Given the description of an element on the screen output the (x, y) to click on. 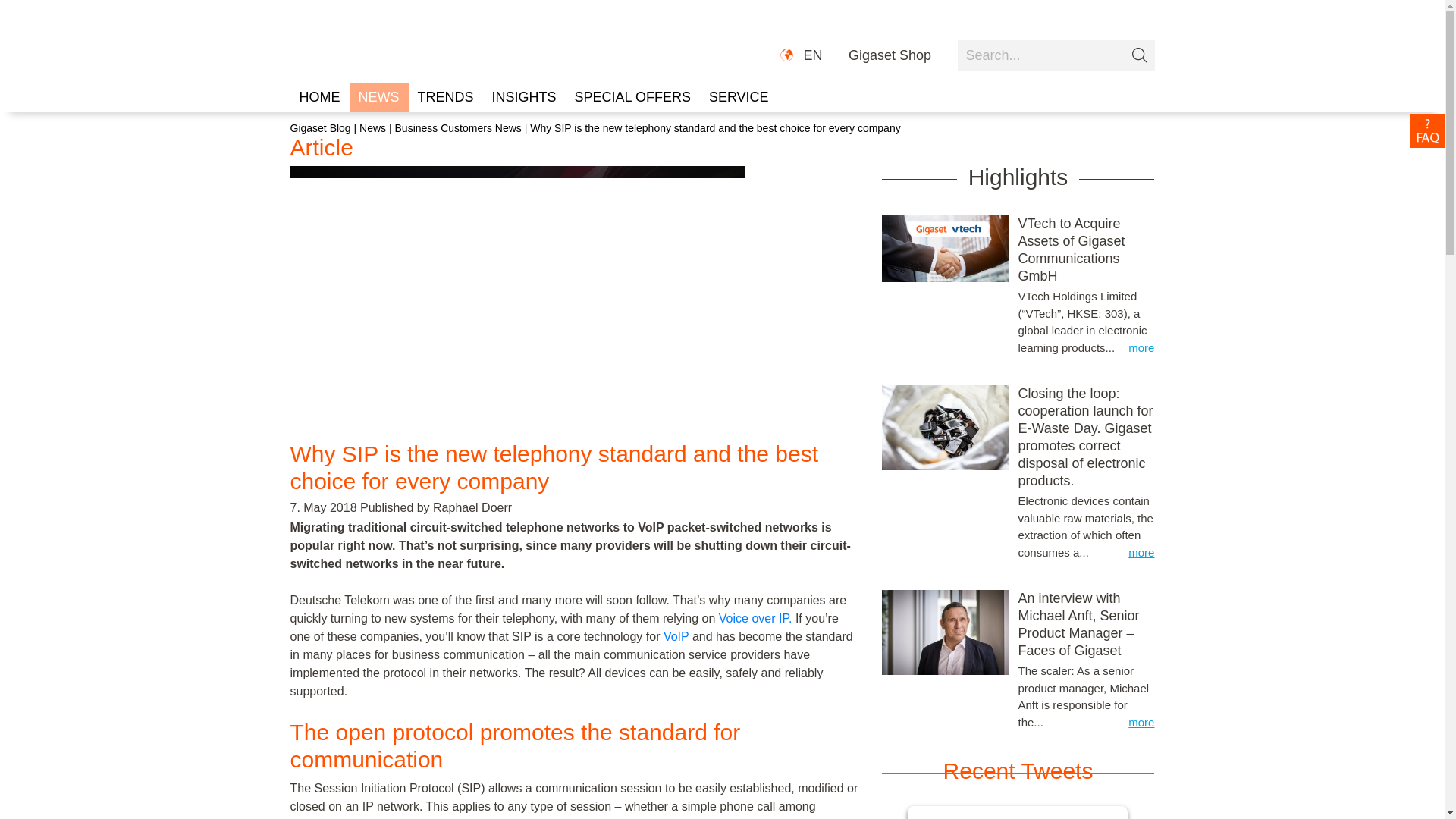
Gehe zum Business Customers News Kategorie-Archiv. (457, 128)
Gehe zu Gigaset Blog. (319, 128)
INSIGHTS (524, 97)
Gehe zum News Kategorie-Archiv. (372, 128)
HOME (319, 97)
NEWS (378, 97)
Search (1055, 55)
TRENDS (444, 97)
Gigaset Shop (889, 55)
